Given the description of an element on the screen output the (x, y) to click on. 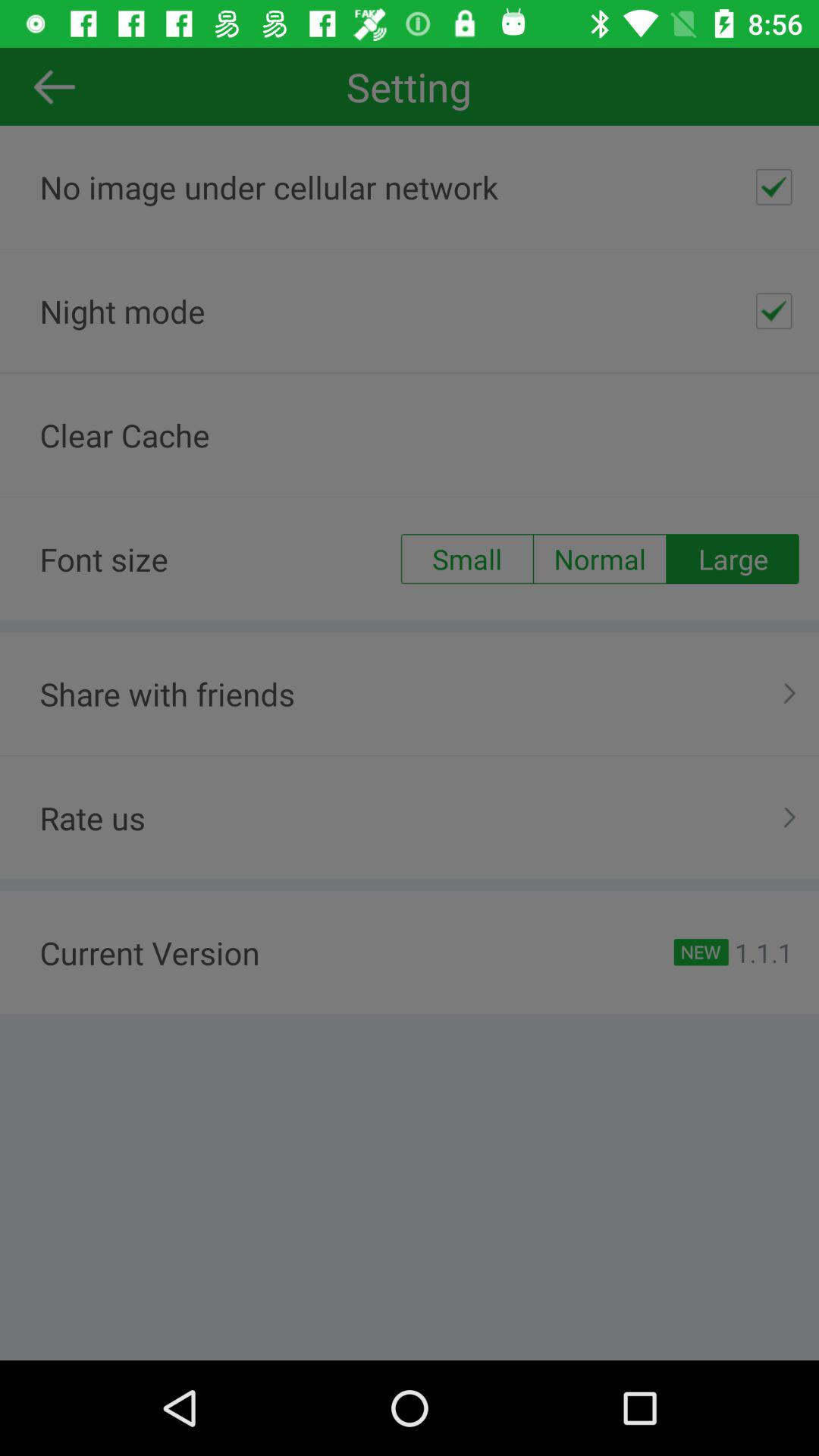
press the app below the clear cache item (600, 559)
